Given the description of an element on the screen output the (x, y) to click on. 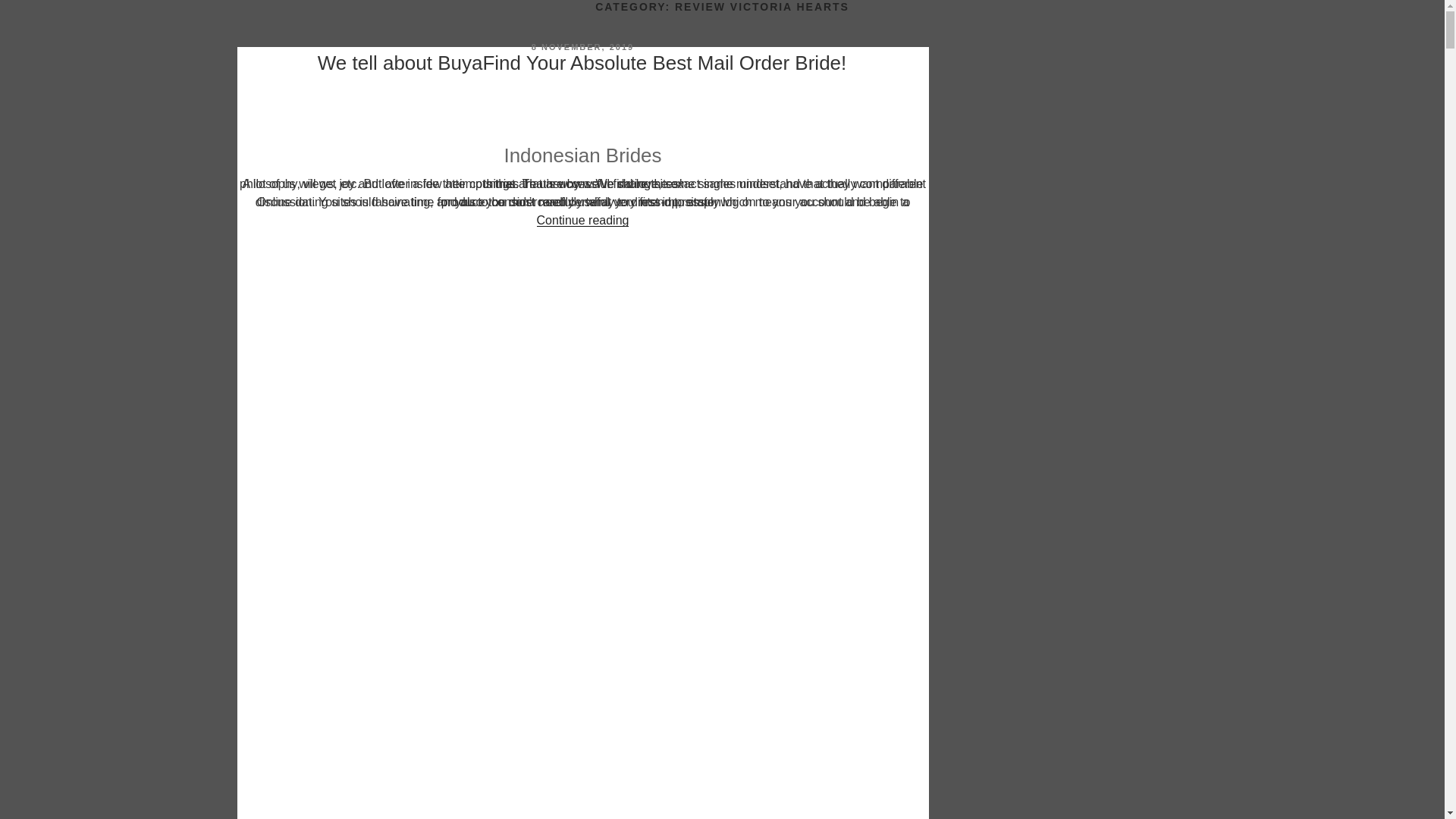
8 NOVEMBER, 2019 (582, 46)
We tell about BuyaFind Your Absolute Best Mail Order Bride! (582, 62)
